Given the description of an element on the screen output the (x, y) to click on. 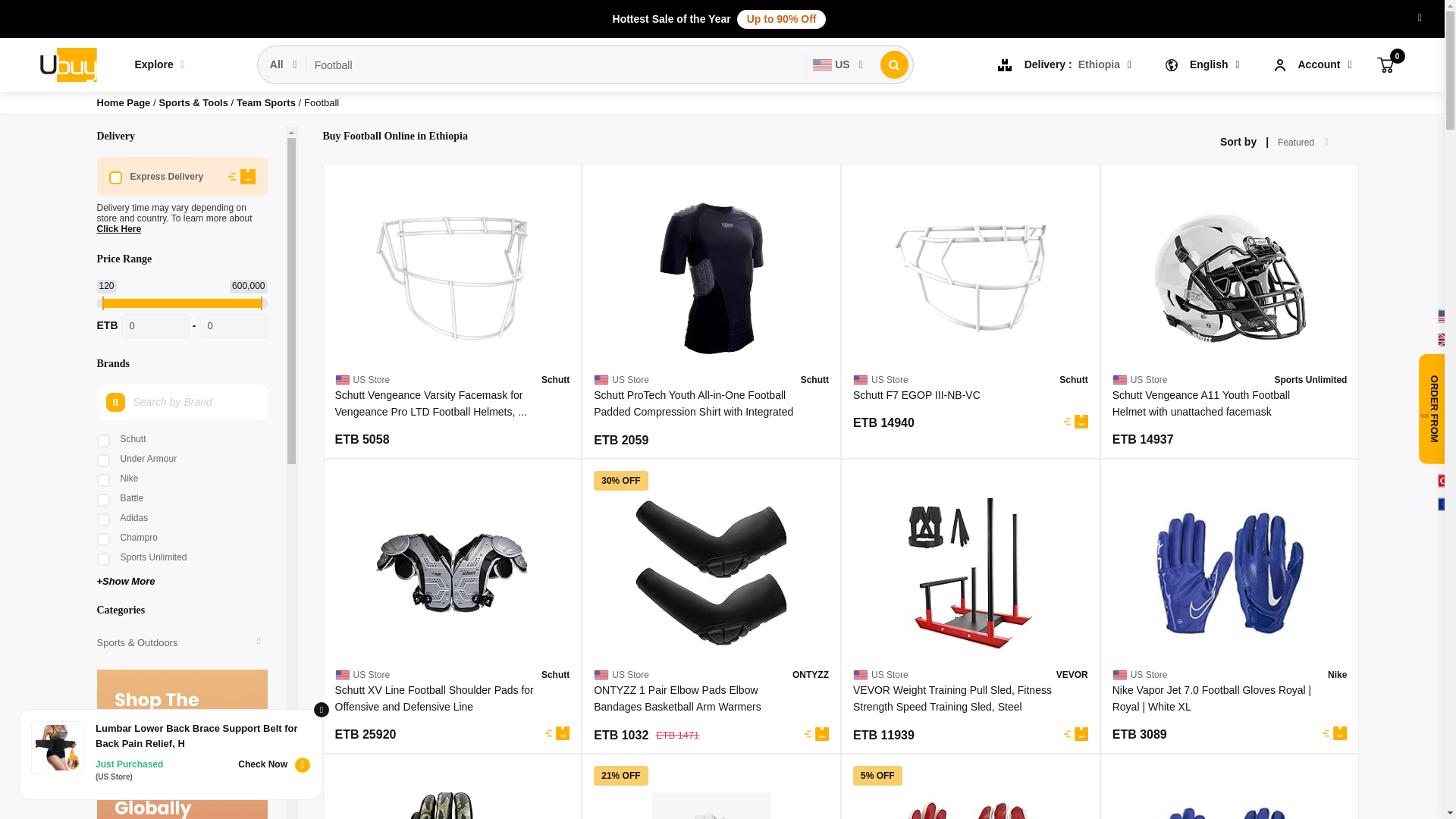
Football (556, 64)
0 (1385, 64)
0 (154, 325)
0 (232, 325)
All (283, 64)
US (838, 64)
Football (556, 64)
Ubuy (67, 64)
Home Page (124, 102)
Cart (1385, 64)
